Given the description of an element on the screen output the (x, y) to click on. 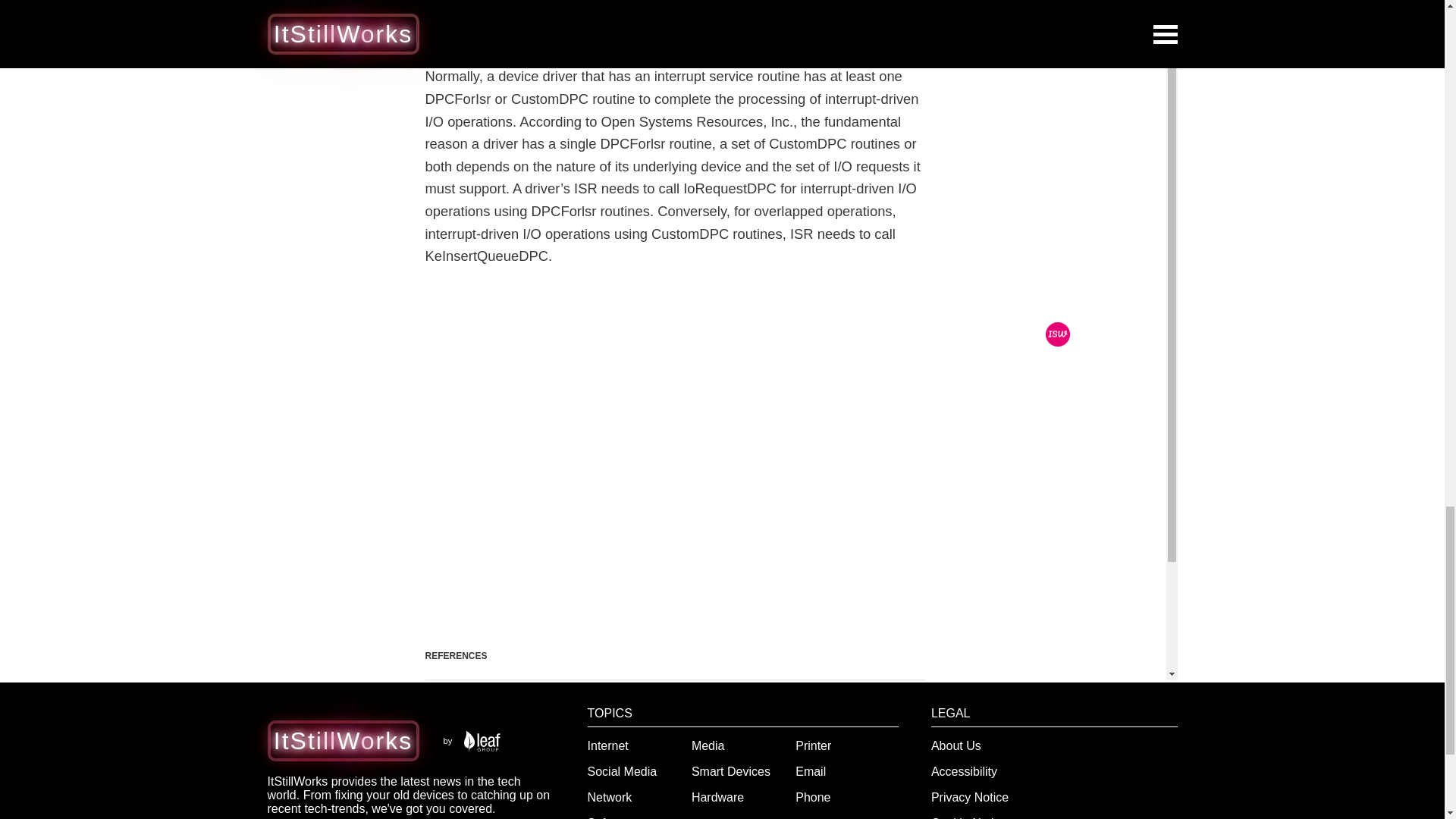
Phone (811, 797)
Network (609, 797)
Hardware (717, 797)
About Us (956, 745)
Internet (608, 745)
Media (708, 745)
Accessibility (964, 771)
Printer (812, 745)
Cookie Notice (969, 817)
Email (809, 771)
Smart Devices (730, 771)
Privacy Notice (970, 797)
ItStillWorks (342, 740)
Social Media (623, 771)
Software (611, 817)
